Given the description of an element on the screen output the (x, y) to click on. 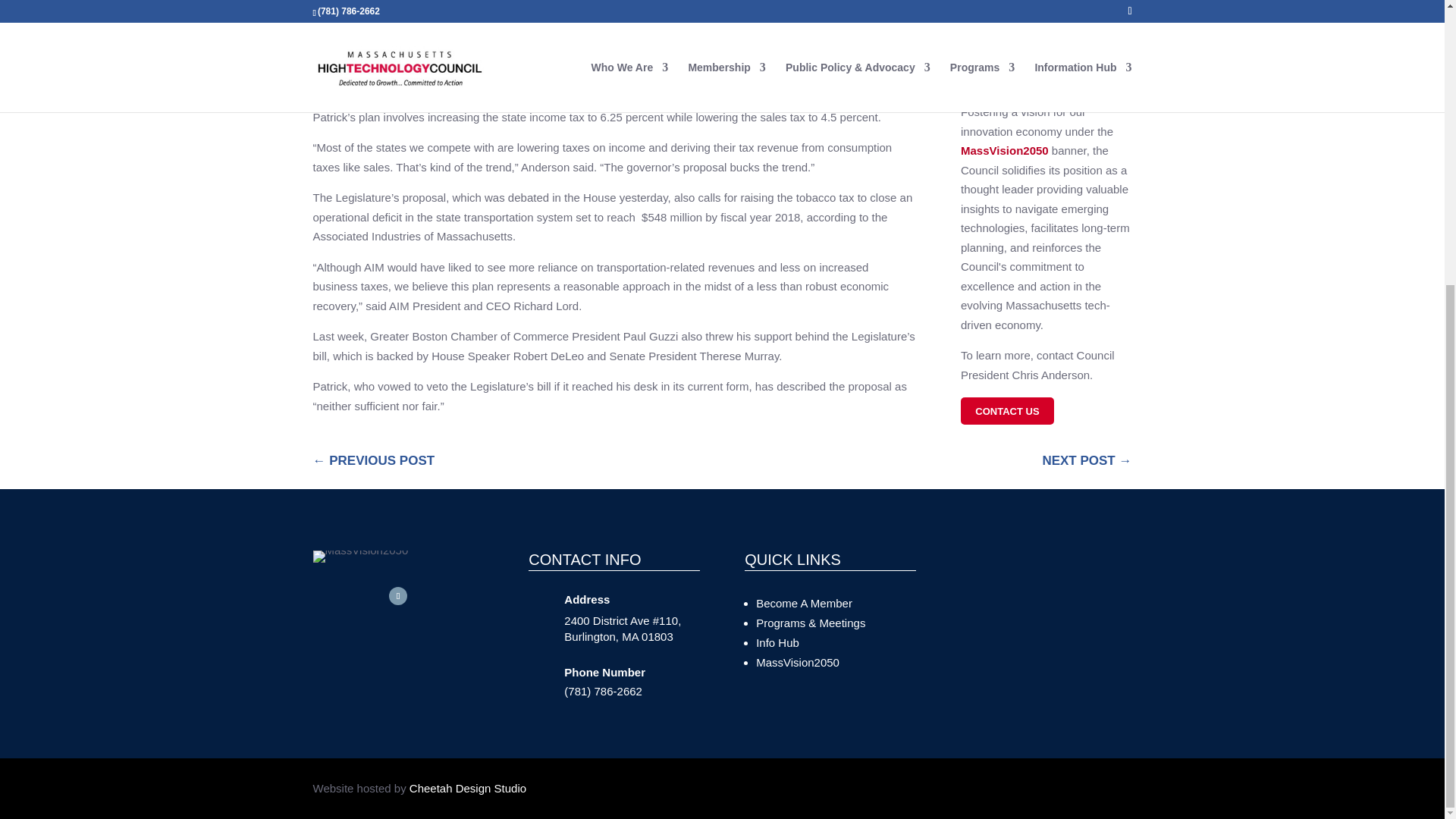
Cheetah Design Studio (467, 788)
CONTACT US (1007, 411)
Become A Member (803, 603)
MassVision2050 (1004, 150)
MHT-white-logo (360, 556)
Info Hub (777, 642)
Follow on LinkedIn (397, 596)
MassVision2050 (797, 662)
